Given the description of an element on the screen output the (x, y) to click on. 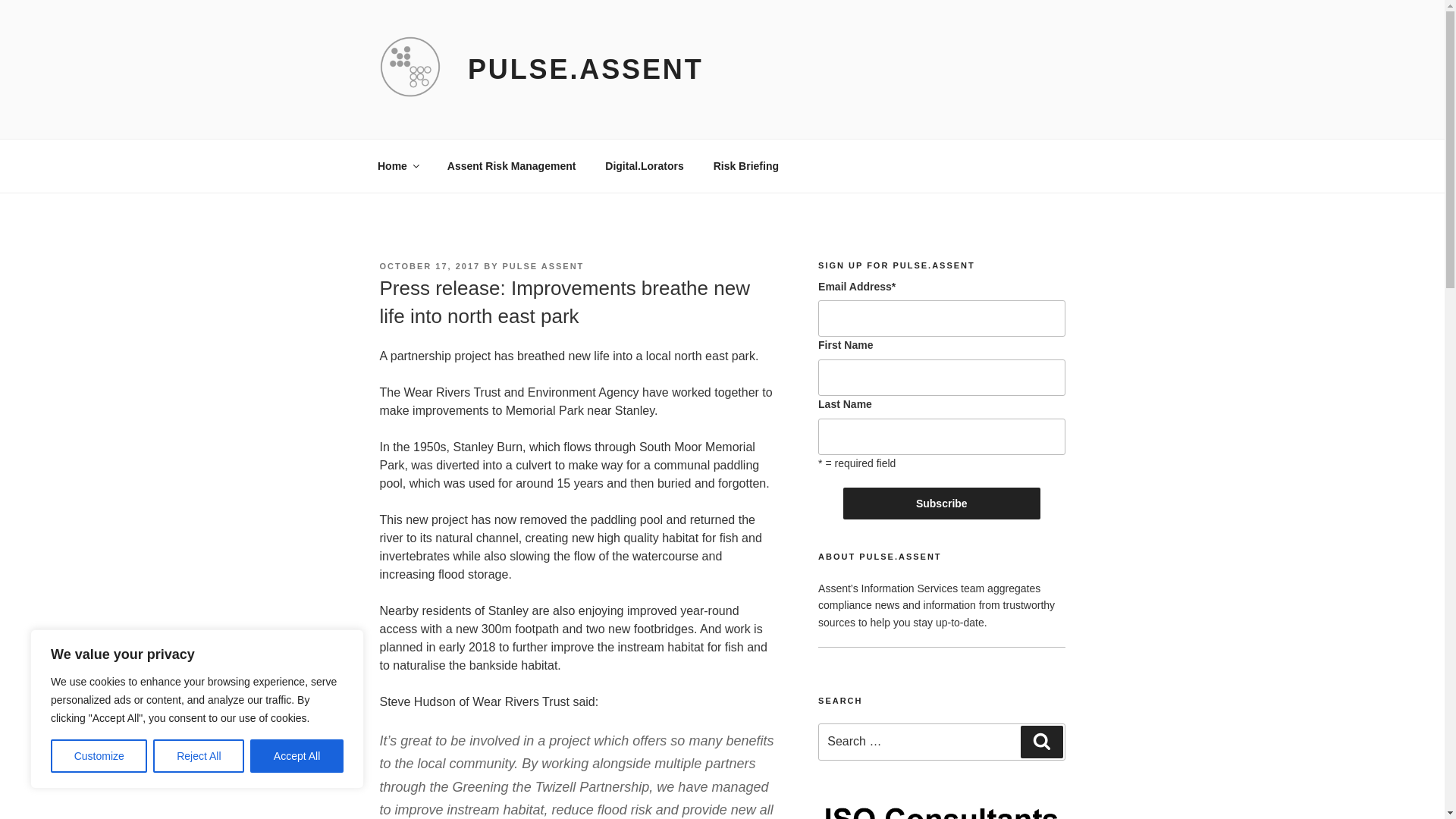
Risk Briefing (746, 165)
Customize (98, 756)
Reject All (198, 756)
PULSE ASSENT (542, 266)
OCTOBER 17, 2017 (429, 266)
Assent Risk Management (511, 165)
Subscribe (942, 503)
Accept All (296, 756)
Home (397, 165)
Digital.Lorators (644, 165)
PULSE.ASSENT (585, 69)
